Given the description of an element on the screen output the (x, y) to click on. 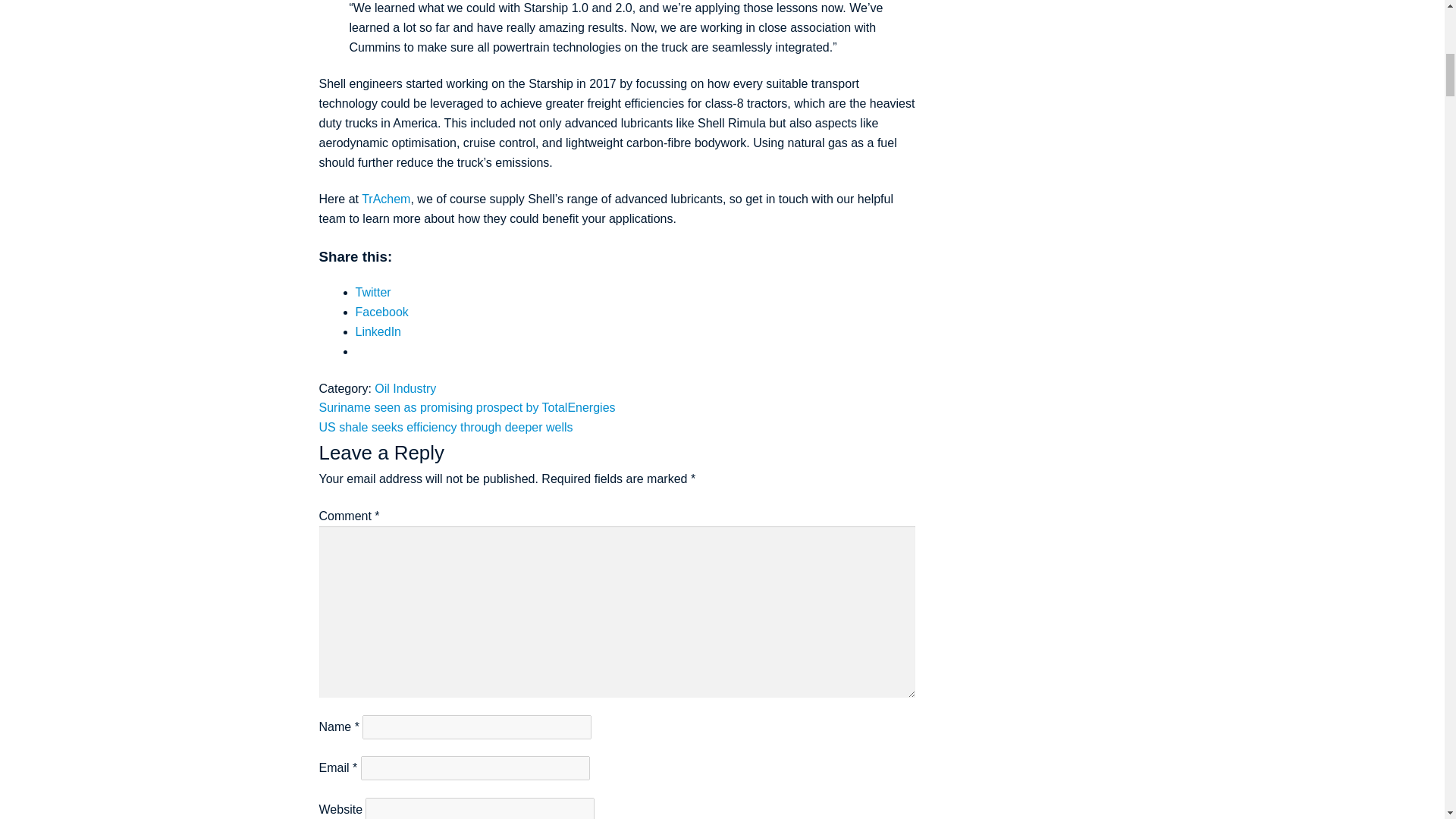
Click to share on Twitter (373, 291)
Click to share on Facebook (382, 311)
TrAchem (385, 198)
Click to share on LinkedIn (378, 331)
